Given the description of an element on the screen output the (x, y) to click on. 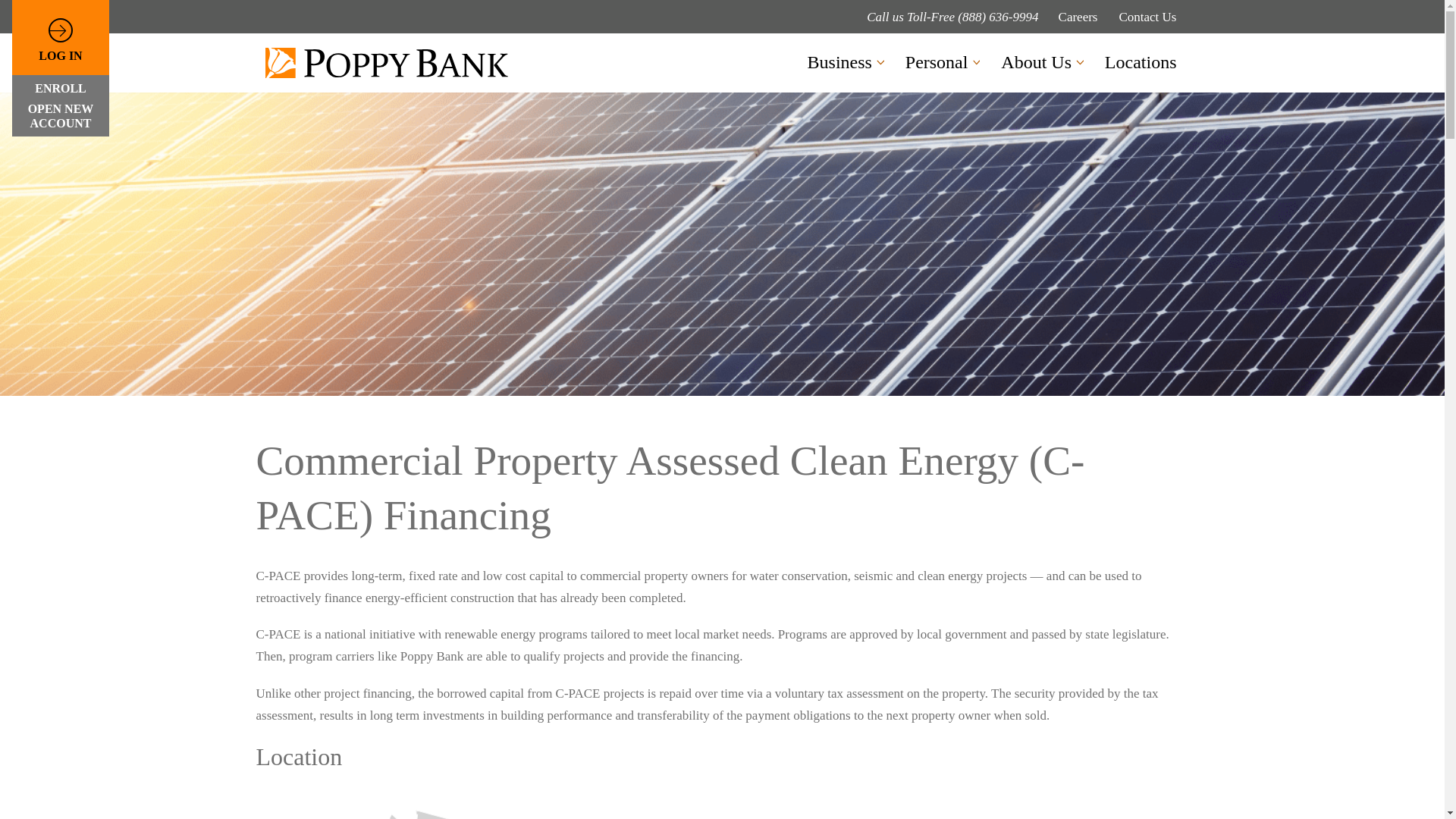
OPEN NEW ACCOUNT Element type: text (60, 115)
ENROLL Element type: text (60, 91)
Personal Element type: text (937, 62)
About Us Element type: text (1036, 62)
Skip to content Element type: text (11, 31)
Careers Element type: text (1078, 16)
Contact Us Element type: text (1147, 16)
Call us Toll-Free (888) 636-9994 Element type: text (952, 16)
Locations Element type: text (1140, 62)
LOG IN Element type: text (60, 40)
Business Element type: text (840, 62)
